Given the description of an element on the screen output the (x, y) to click on. 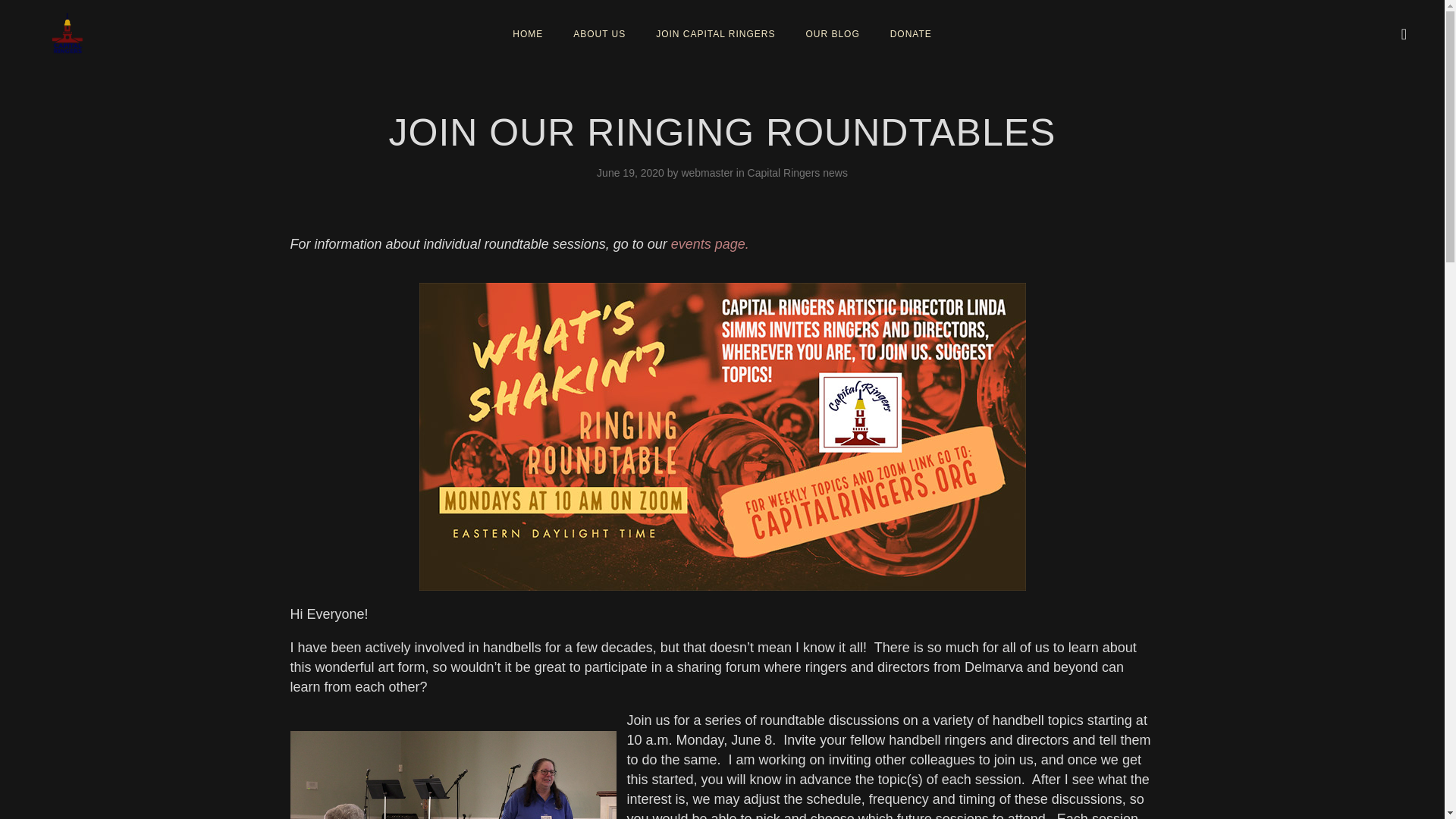
Capital Ringers news (797, 173)
OUR BLOG (832, 33)
events page. (710, 243)
webmaster (708, 173)
HOME (527, 33)
ABOUT US (599, 33)
JOIN CAPITAL RINGERS (715, 33)
DONATE (910, 33)
